Given the description of an element on the screen output the (x, y) to click on. 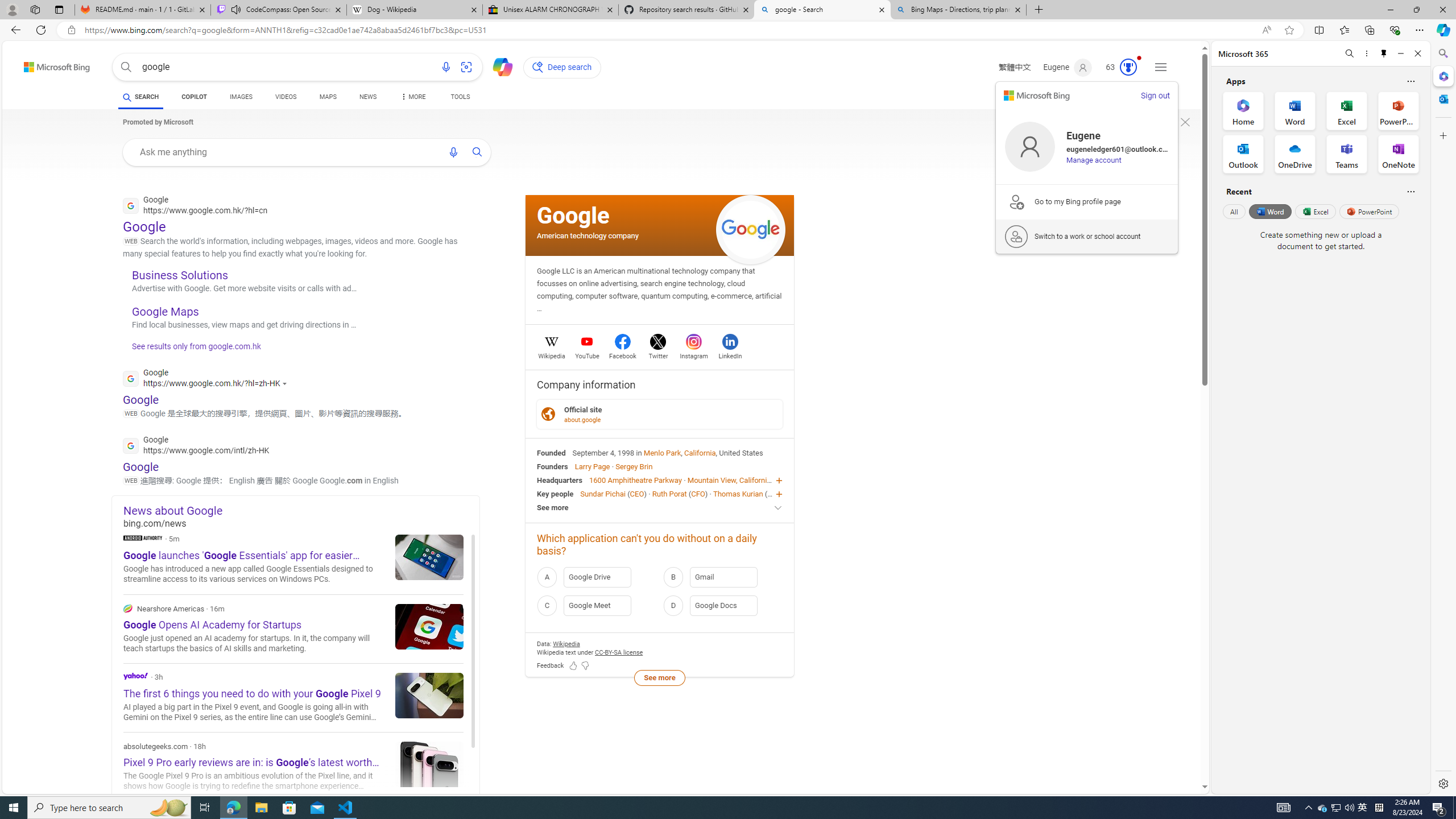
AutomationID: uaseabtn (478, 151)
VIDEOS (285, 96)
C Google Meet (596, 605)
Settings and quick links (1160, 67)
Side bar (1443, 418)
Founders (552, 465)
Search button (126, 66)
bing.com/news (301, 522)
Headquarters (559, 479)
SEARCH (140, 96)
